Given the description of an element on the screen output the (x, y) to click on. 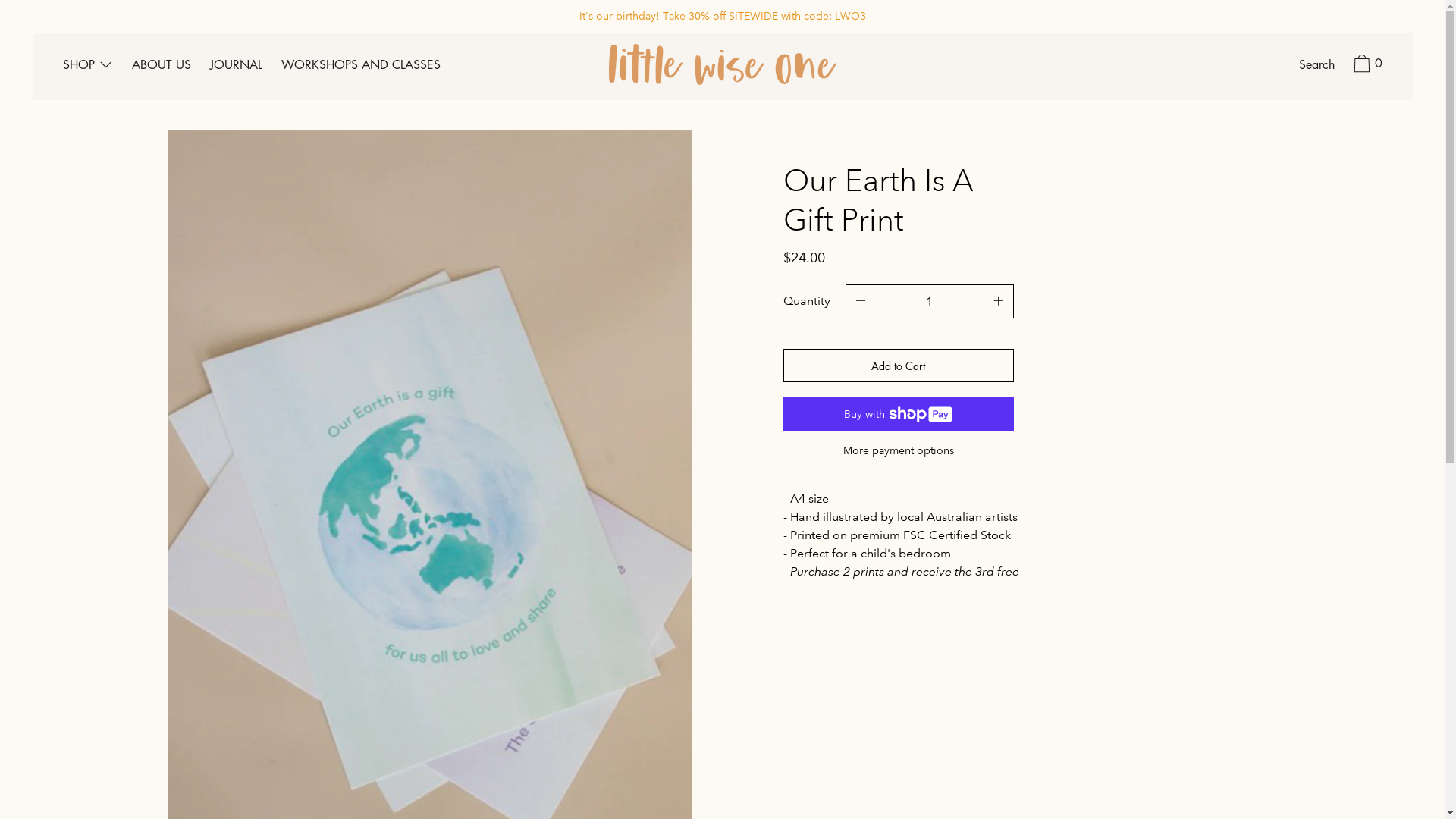
0 Element type: text (1365, 65)
Search Element type: text (1316, 66)
Add to Cart Element type: text (897, 365)
SHOP Element type: text (86, 66)
JOURNAL Element type: text (235, 66)
It's our birthday! Take 30% off SITEWIDE with code: LWO3 Element type: text (722, 16)
WORKSHOPS AND CLASSES Element type: text (360, 66)
ABOUT US Element type: text (161, 66)
More payment options Element type: text (897, 450)
